Given the description of an element on the screen output the (x, y) to click on. 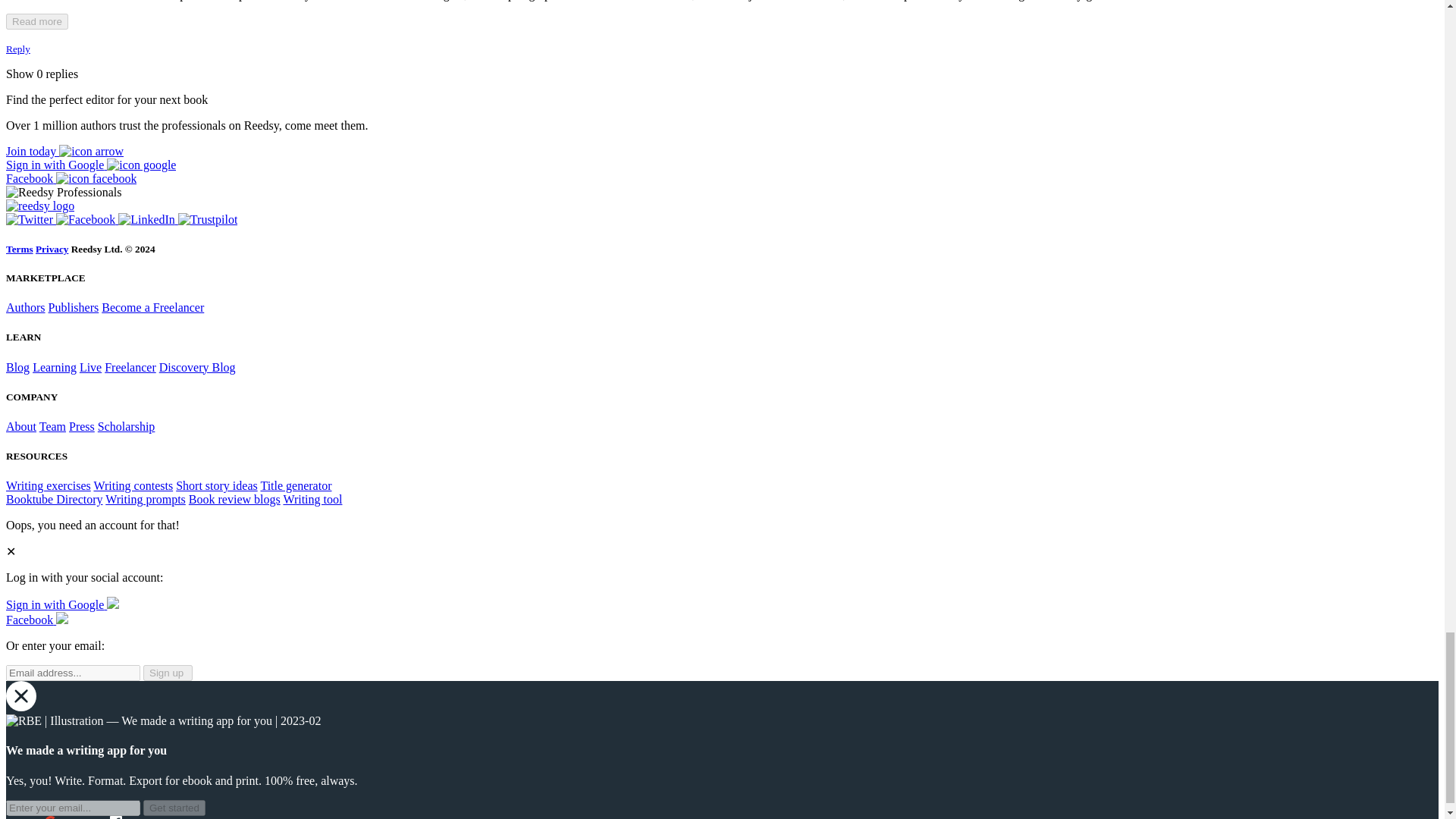
Twitter (30, 219)
Read more (36, 21)
Sign up (64, 151)
Sign in with Facebook (36, 619)
Sign in with Google (90, 164)
Trustpilot (207, 219)
LinkedIn (147, 219)
Facebook (86, 219)
Sign up  (167, 672)
Get started (173, 807)
